Given the description of an element on the screen output the (x, y) to click on. 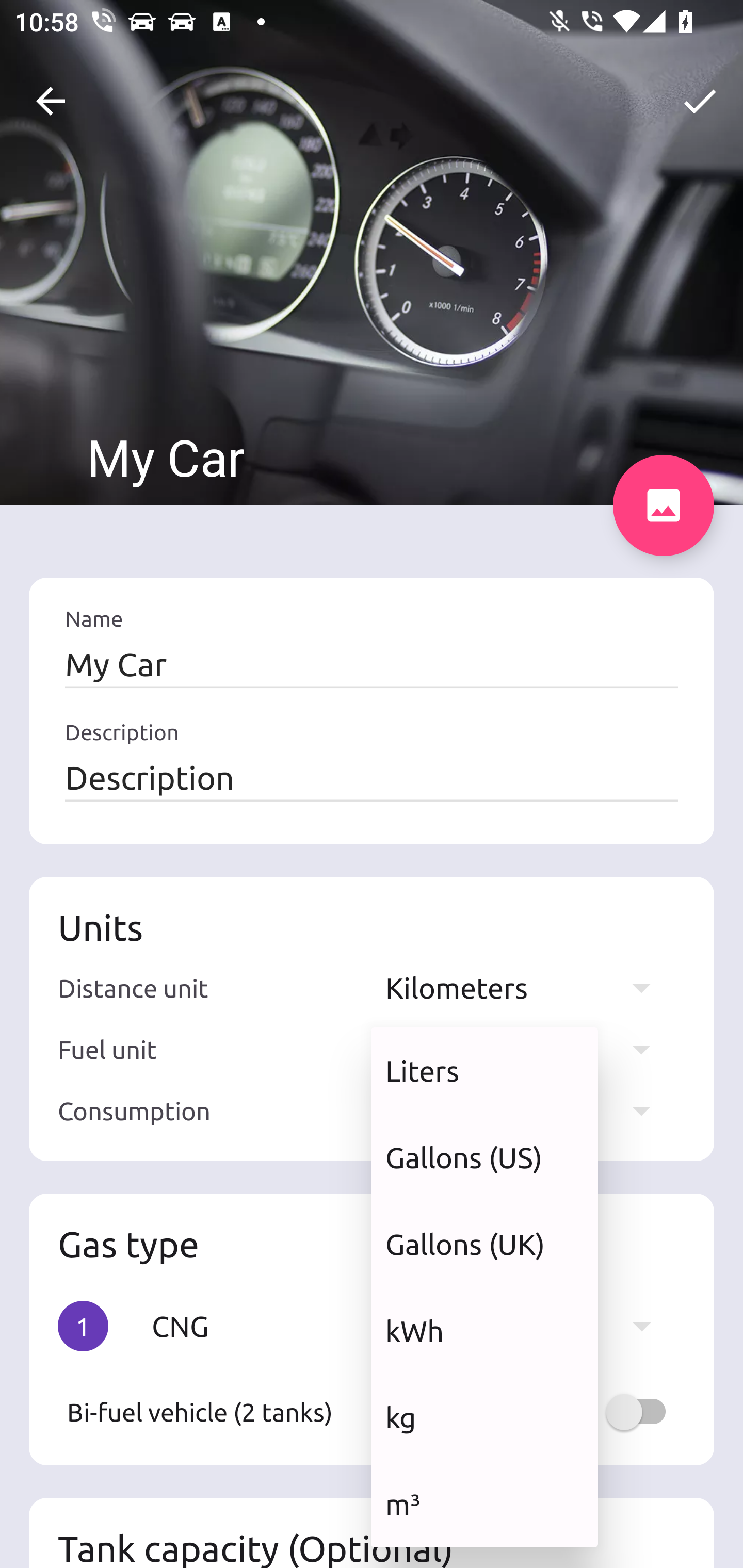
Liters (484, 1070)
Gallons (US) (484, 1157)
Gallons (UK) (484, 1244)
kWh (484, 1330)
kg (484, 1417)
m³ (484, 1504)
